Given the description of an element on the screen output the (x, y) to click on. 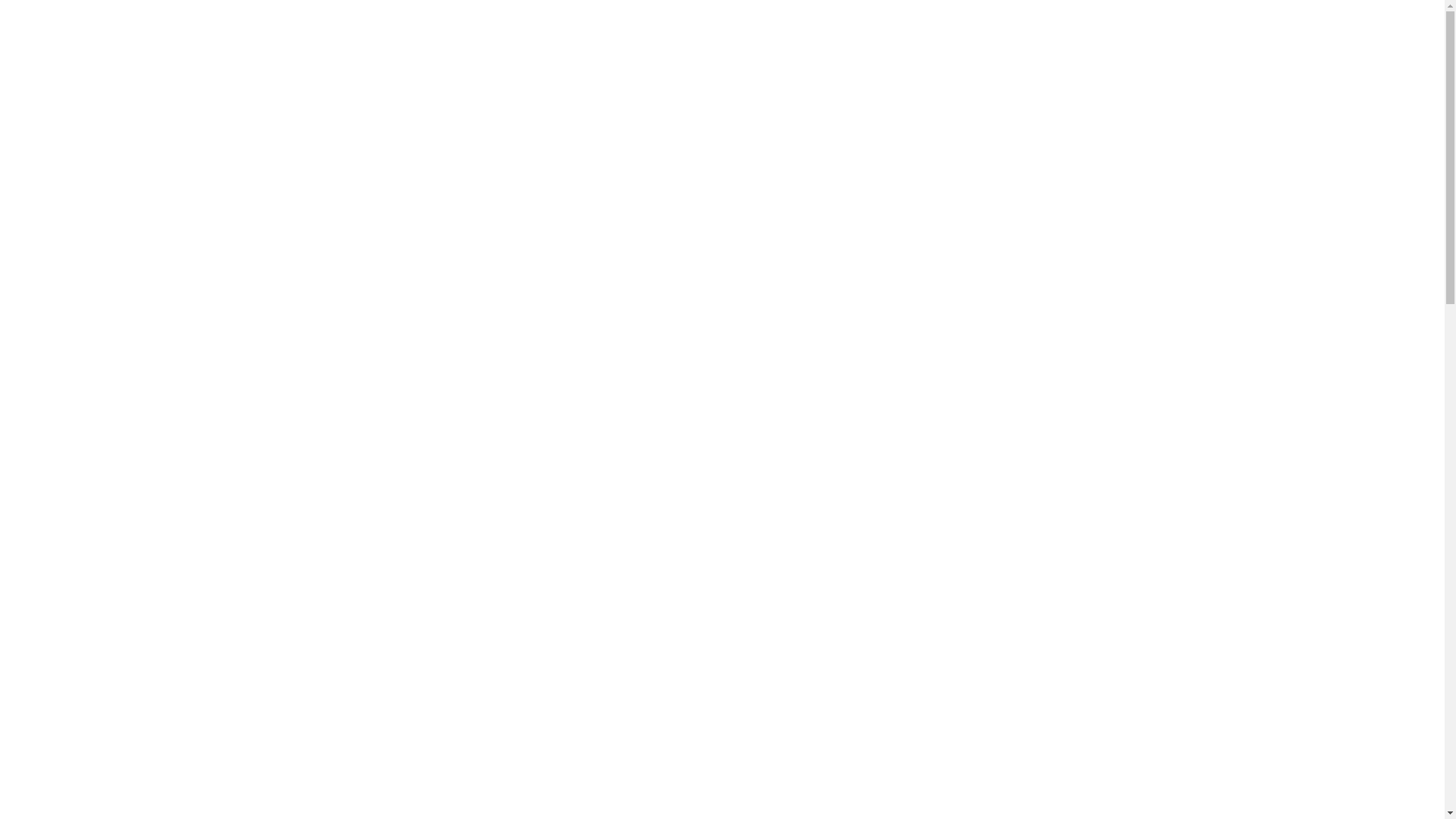
Omroep Brabant__Oost-Indisch doof__ Element type: text (622, 18)
ACTUEEL Element type: text (469, 198)
Dream Suits Element type: text (486, 444)
English (UK) Element type: hover (850, 20)
MEMORIAL
2023 Element type: text (445, 570)
LEES MEER... Element type: text (655, 672)
logo1 (7) Element type: hover (459, 109)
IN
MEMORIAM
TOM PINTENS Element type: text (445, 343)
Meer informatie Element type: text (1341, 730)
BOEKEN Element type: text (879, 198)
CONTACT Element type: text (973, 198)
Cookie Consent plugin for the EU cookie law Element type: text (1315, 788)
Tom Pintens Element type: text (345, 444)
Los Speedy Bobs Element type: text (416, 444)
EVENTS Element type: text (788, 198)
MUSIC & VIDEO Element type: text (682, 198)
BIOGRAFIE Element type: text (568, 198)
LEES MEER... Element type: text (655, 465)
Deutsch (Deutschland) Element type: hover (830, 20)
OK Element type: text (1315, 762)
